Given the description of an element on the screen output the (x, y) to click on. 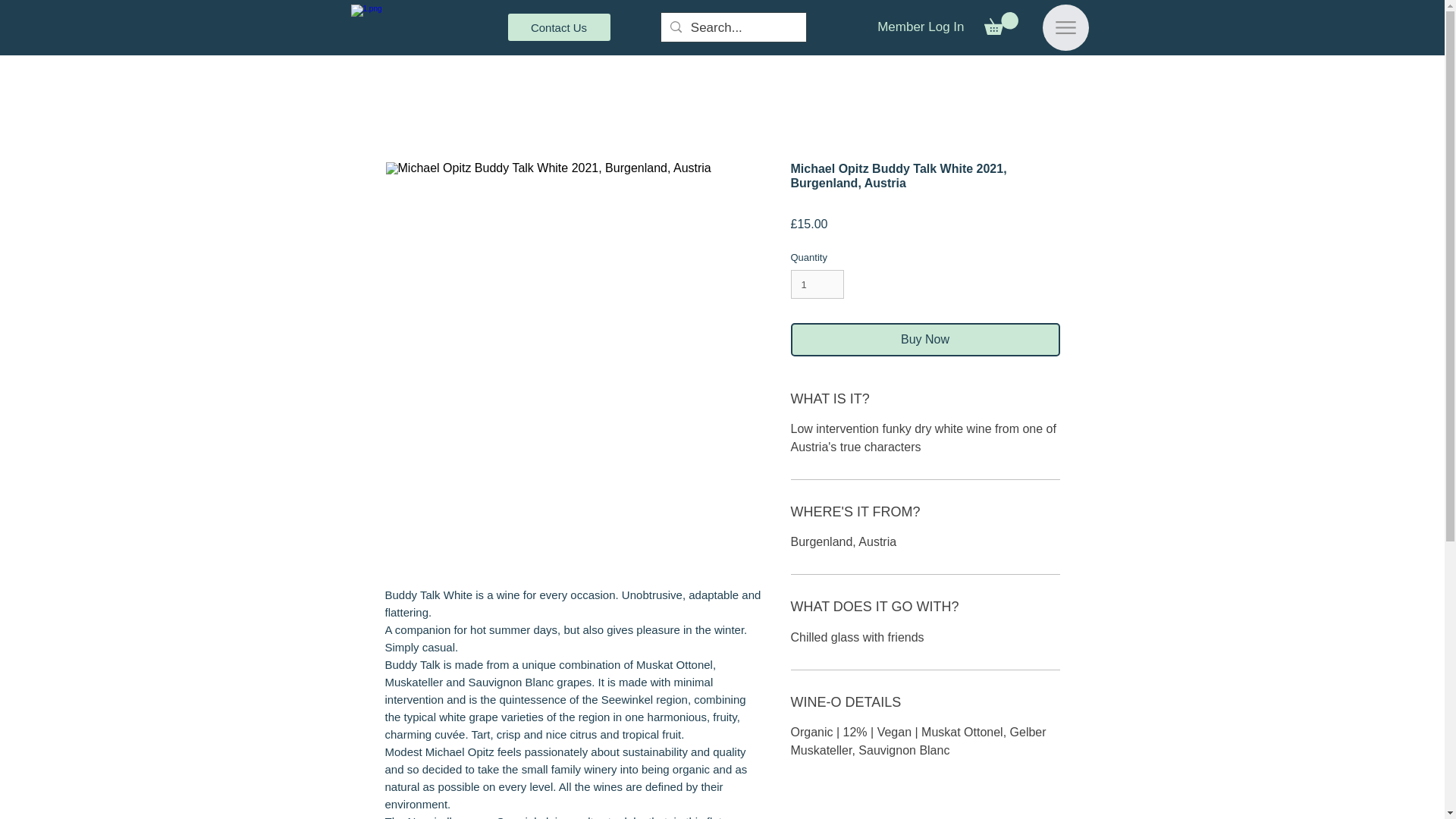
1 (817, 284)
Contact Us (558, 27)
Buy Now (924, 339)
Member Log In (920, 26)
